Given the description of an element on the screen output the (x, y) to click on. 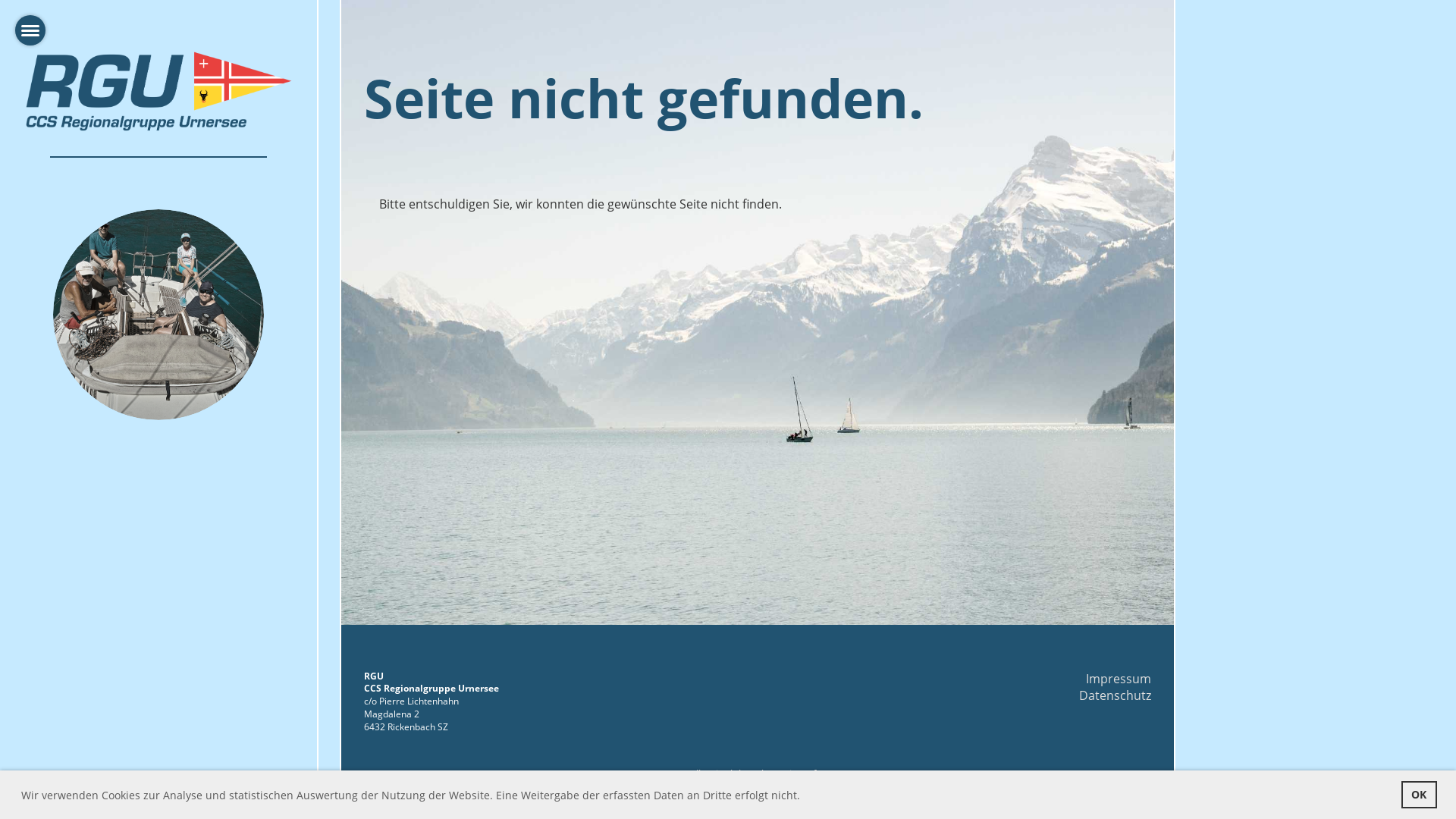
Impressum Element type: text (1118, 678)
OK Element type: text (1419, 794)
Erstellt mit ClubDesk Vereinssoftware Element type: text (757, 773)
Datenschutz Element type: text (1115, 695)
